Given the description of an element on the screen output the (x, y) to click on. 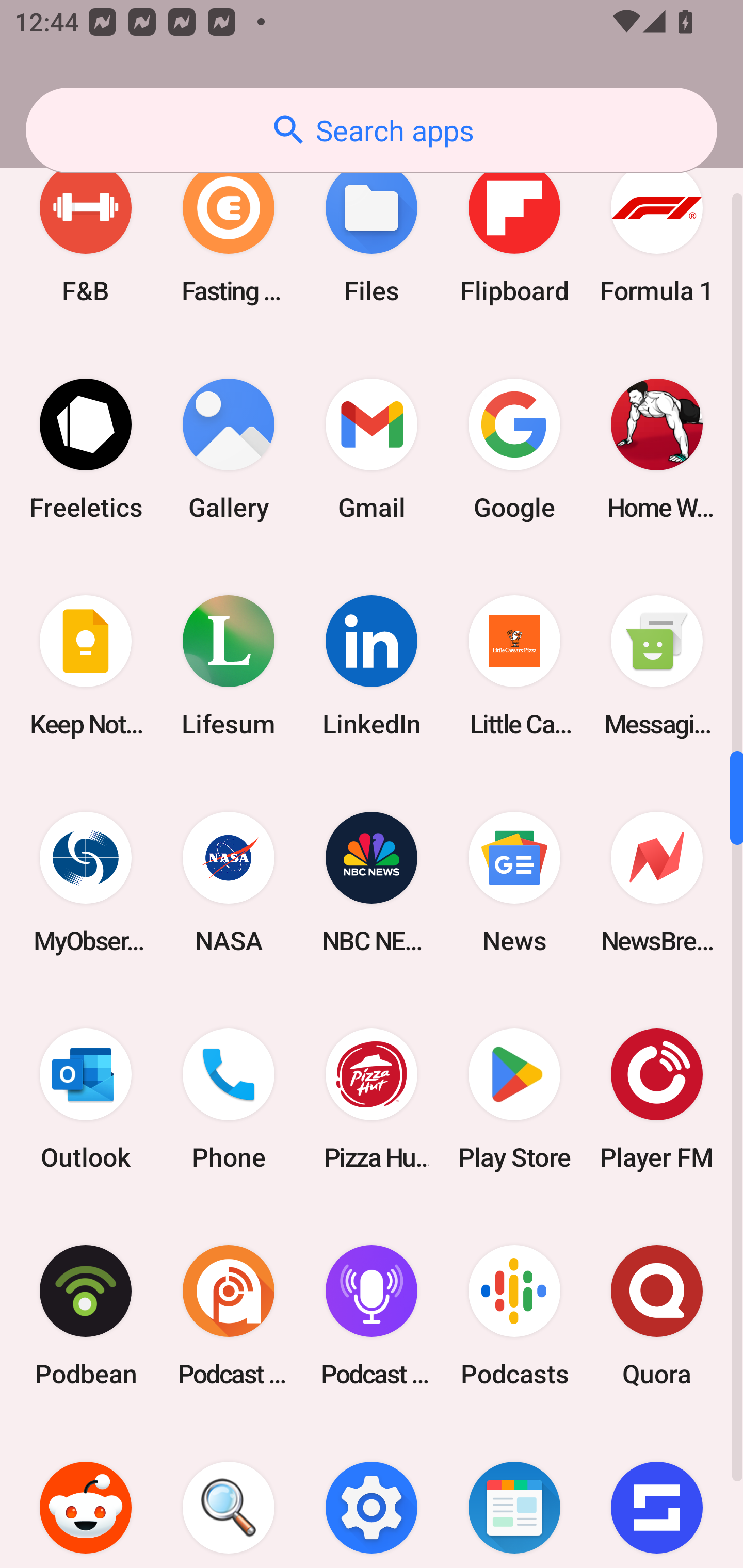
  Search apps (371, 130)
F&B (85, 231)
Fasting Coach (228, 231)
Files (371, 231)
Flipboard (514, 231)
Formula 1 (656, 231)
Freeletics (85, 449)
Gallery (228, 449)
Gmail (371, 449)
Google (514, 449)
Home Workout (656, 449)
Keep Notes (85, 666)
Lifesum (228, 666)
LinkedIn (371, 666)
Little Caesars Pizza (514, 666)
Messaging (656, 666)
MyObservatory (85, 882)
NASA (228, 882)
NBC NEWS (371, 882)
News (514, 882)
NewsBreak (656, 882)
Outlook (85, 1098)
Phone (228, 1098)
Pizza Hut HK & Macau (371, 1098)
Play Store (514, 1098)
Player FM (656, 1098)
Podbean (85, 1315)
Podcast Addict (228, 1315)
Podcast Player (371, 1315)
Podcasts (514, 1315)
Quora (656, 1315)
Reddit (85, 1495)
Search (228, 1495)
Settings (371, 1495)
SmartNews (514, 1495)
Sofascore (656, 1495)
